Given the description of an element on the screen output the (x, y) to click on. 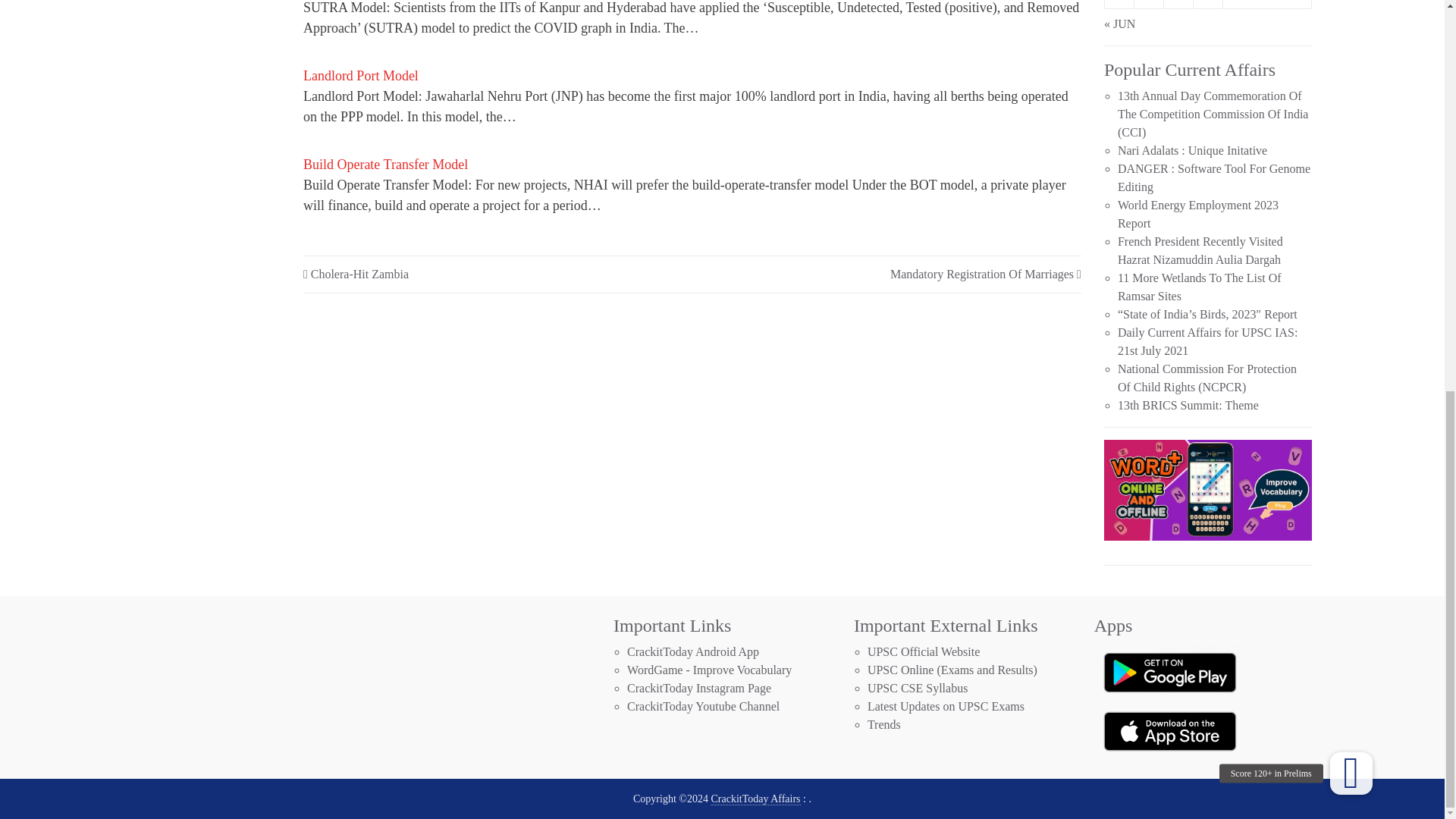
Landlord Port Model (360, 76)
Cholera-Hit Zambia (360, 273)
Mandatory Registration Of Marriages (981, 273)
Build Operate Transfer Model (384, 166)
